Given the description of an element on the screen output the (x, y) to click on. 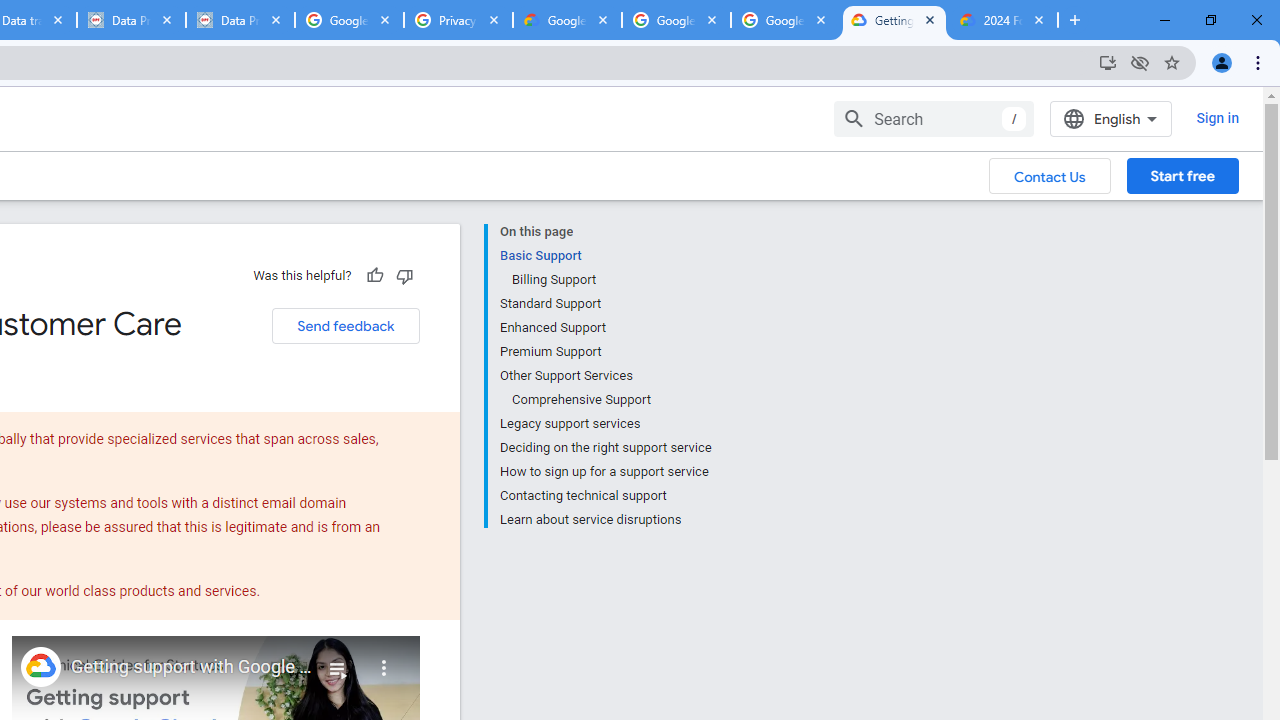
Comprehensive Support (610, 399)
Learn about service disruptions (605, 517)
Not helpful (404, 275)
Helpful (374, 275)
Send feedback (345, 326)
Data Privacy Framework (130, 20)
Enhanced Support (605, 327)
Getting support with Google Cloud Customer Care (191, 667)
Start free (1182, 175)
